Given the description of an element on the screen output the (x, y) to click on. 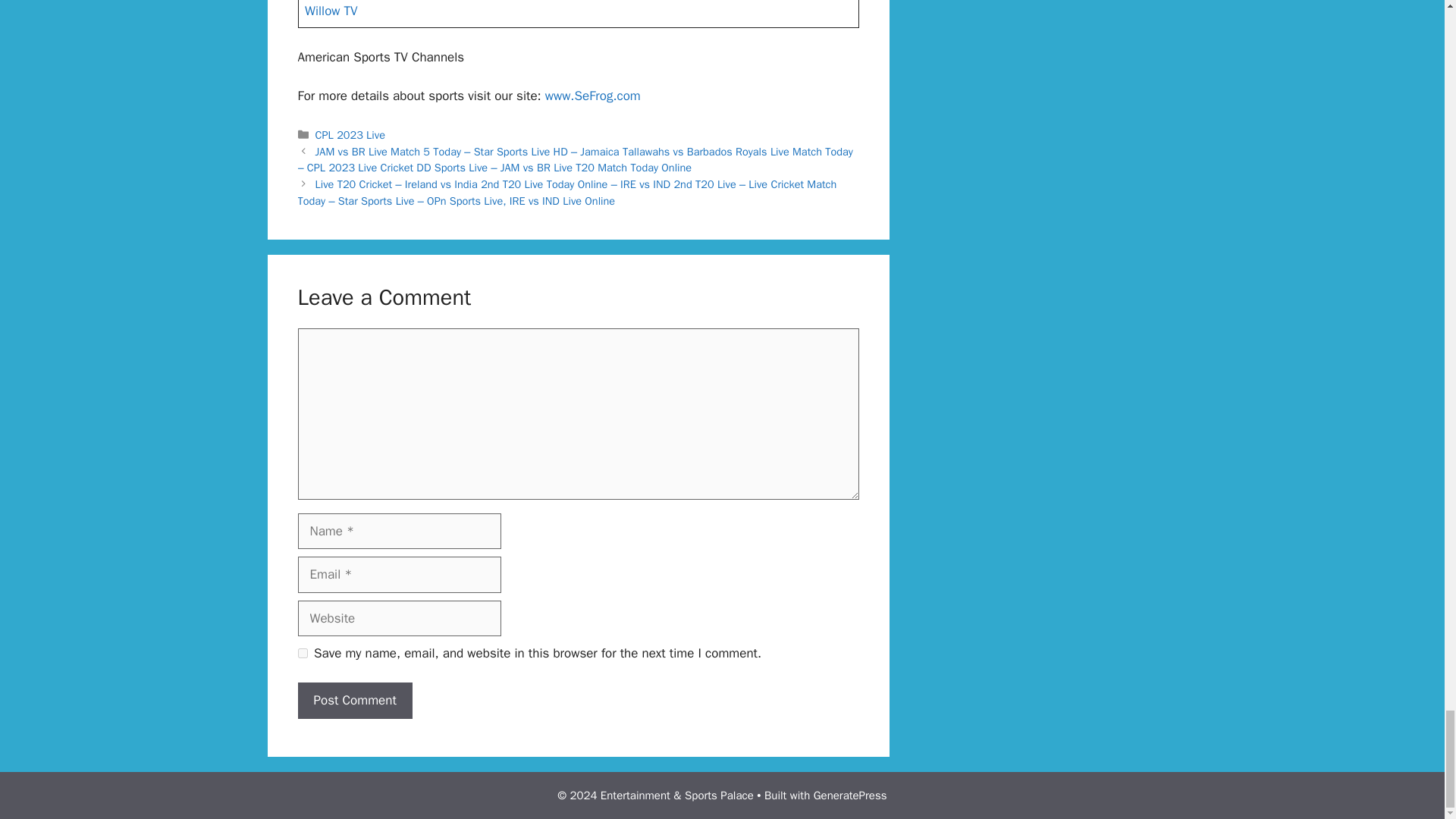
CPL 2023 Live (350, 134)
www.SeFrog.com (592, 95)
Post Comment (354, 700)
Post Comment (354, 700)
Willow TV (331, 10)
yes (302, 653)
